Given the description of an element on the screen output the (x, y) to click on. 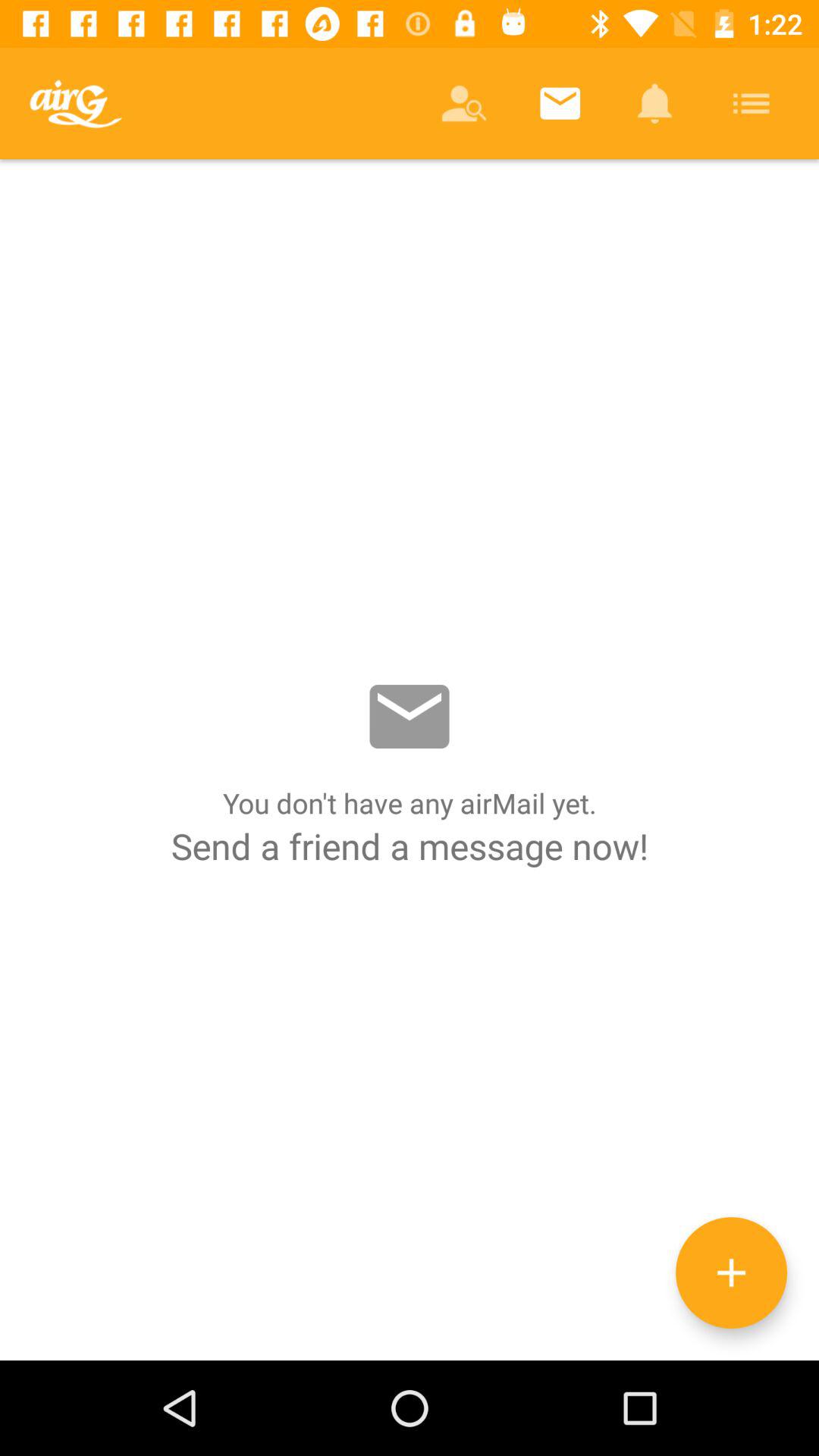
go to options (731, 1272)
